Given the description of an element on the screen output the (x, y) to click on. 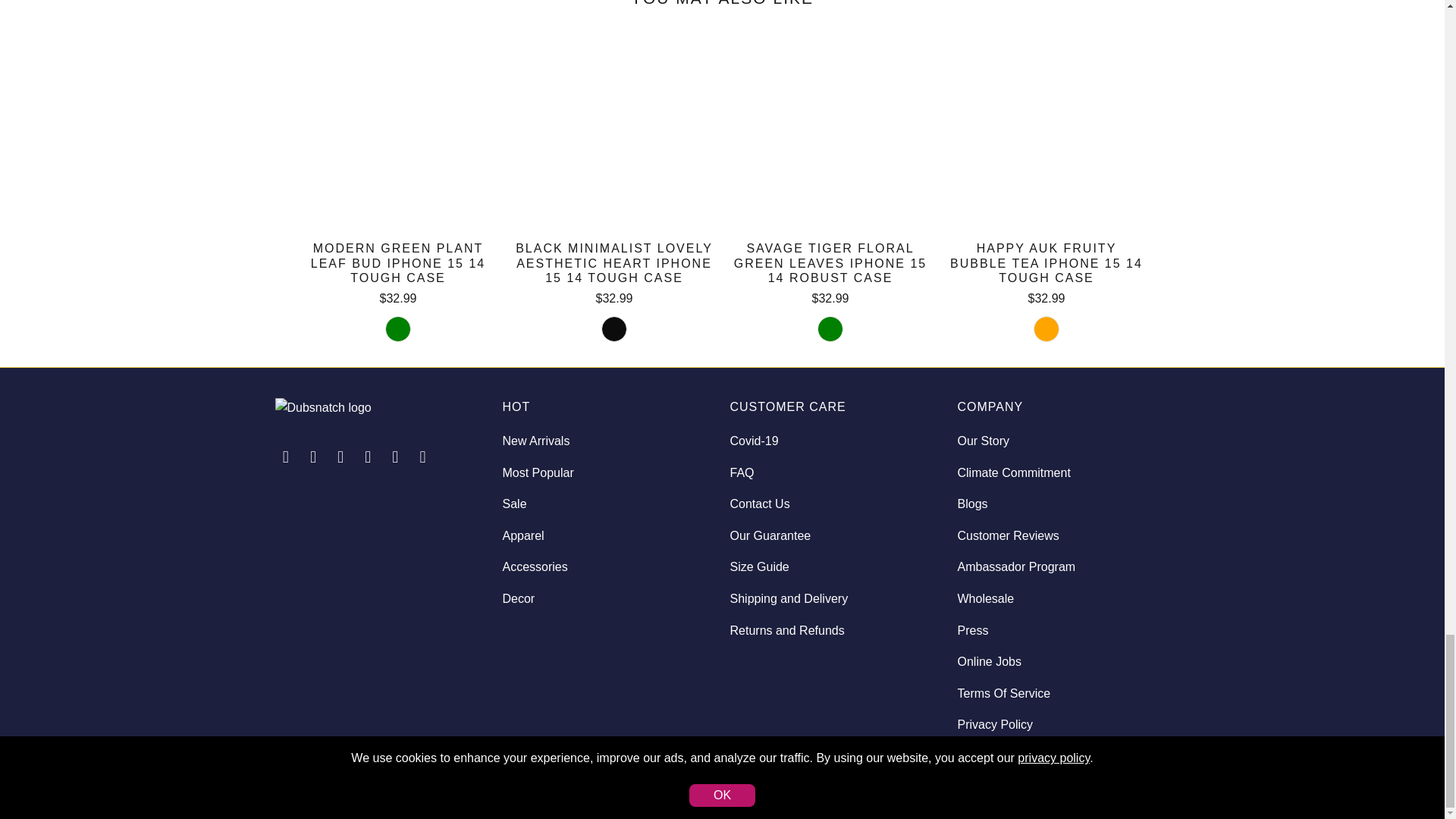
Mastercard (1072, 781)
Shop Pay (1111, 781)
Visa (1150, 781)
American Express (1031, 781)
